Given the description of an element on the screen output the (x, y) to click on. 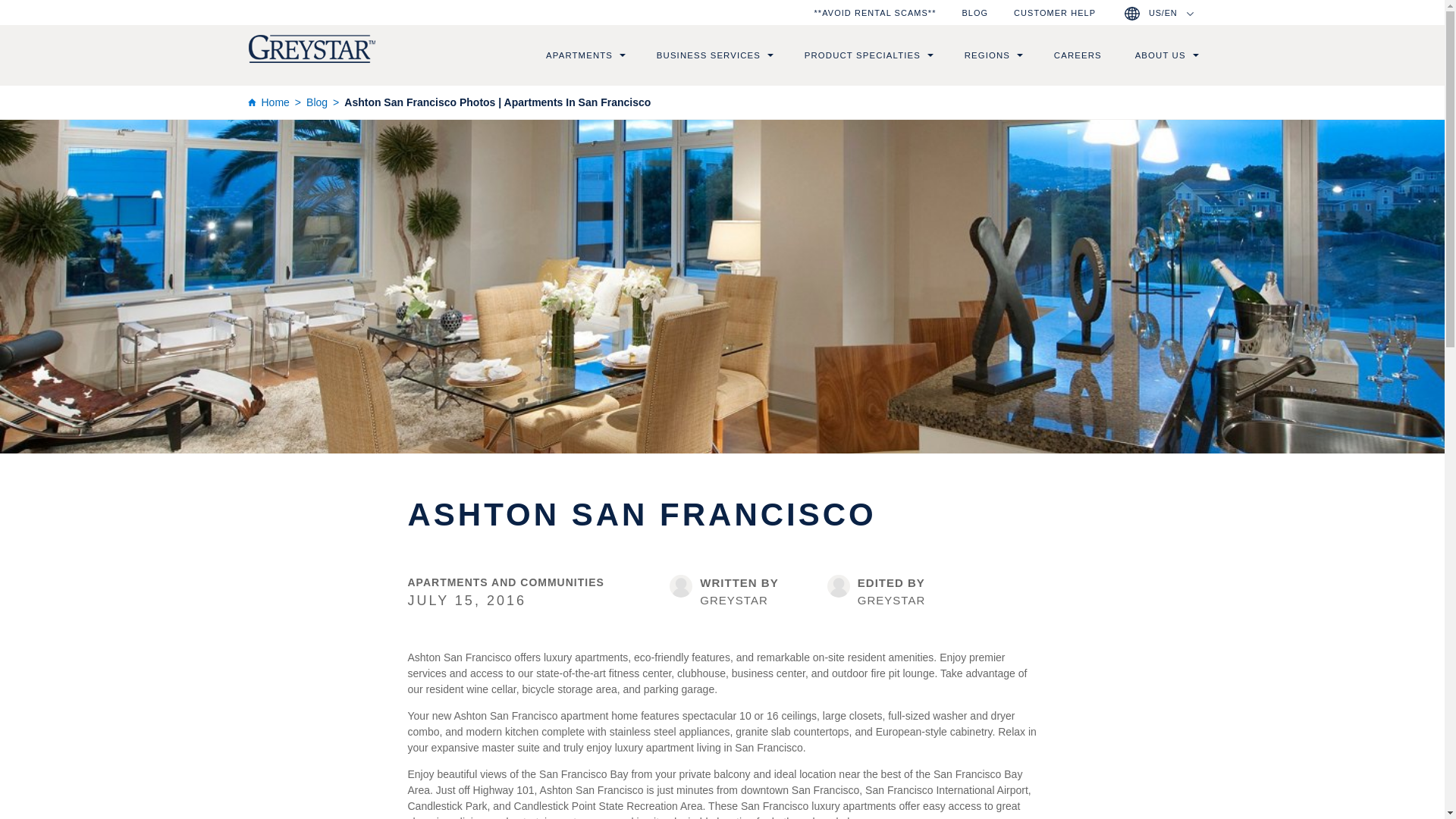
Greystar's Product Specialties  (862, 55)
BLOG (974, 12)
Greystar's Global Business Services (708, 55)
Contact Us (1054, 12)
APARTMENTS (579, 55)
CUSTOMER HELP (1054, 12)
Browse Greystar's apartments (579, 55)
BUSINESS SERVICES (708, 55)
PRODUCT SPECIALTIES (862, 55)
